Given the description of an element on the screen output the (x, y) to click on. 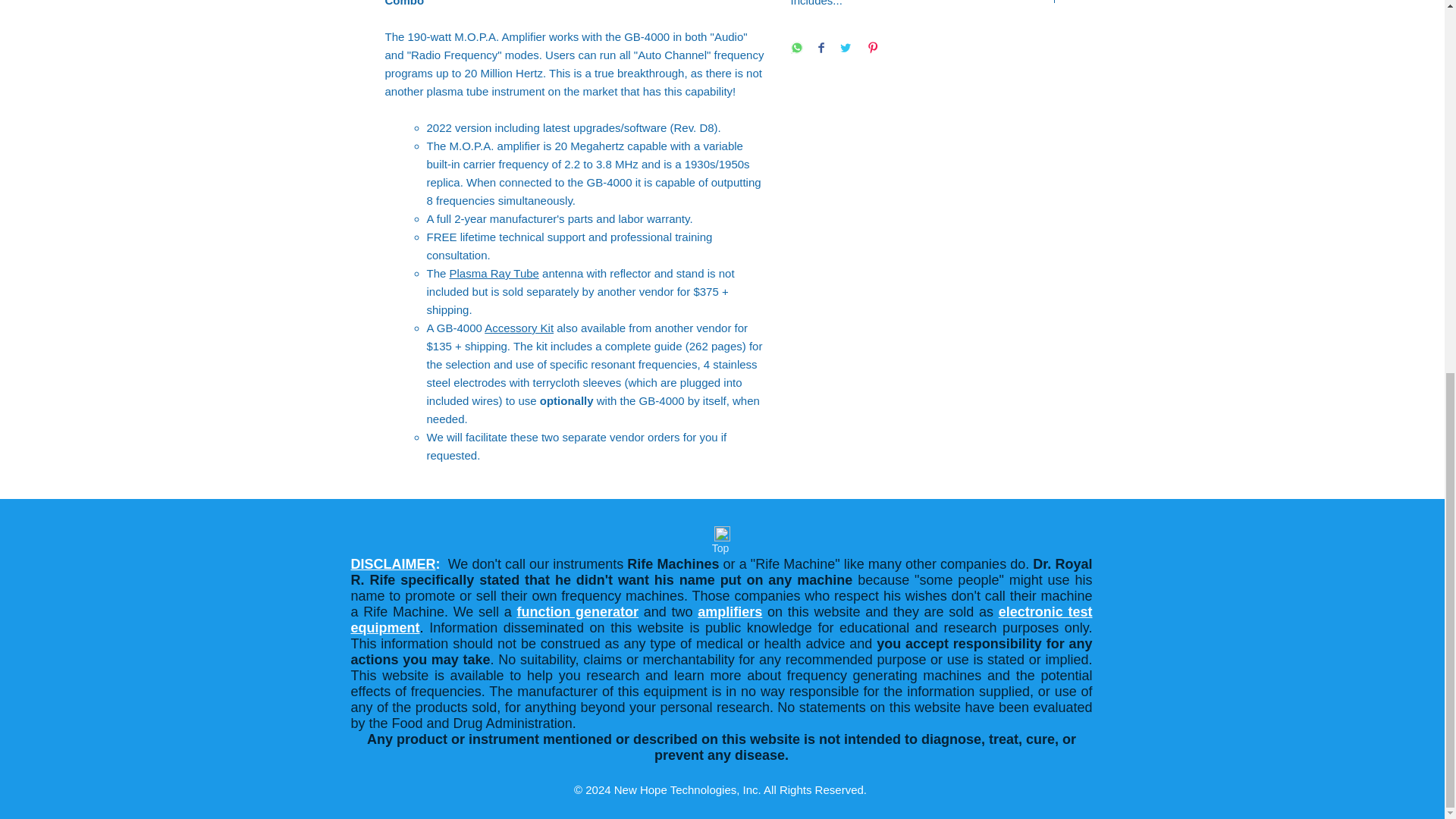
Plasma Ray Tube (493, 273)
DISCLAIMER (392, 563)
amplifiers (729, 611)
Accessory Kit (518, 327)
electronic test equipment (721, 619)
function generator (577, 611)
Top (719, 548)
Includes... (924, 4)
